Given the description of an element on the screen output the (x, y) to click on. 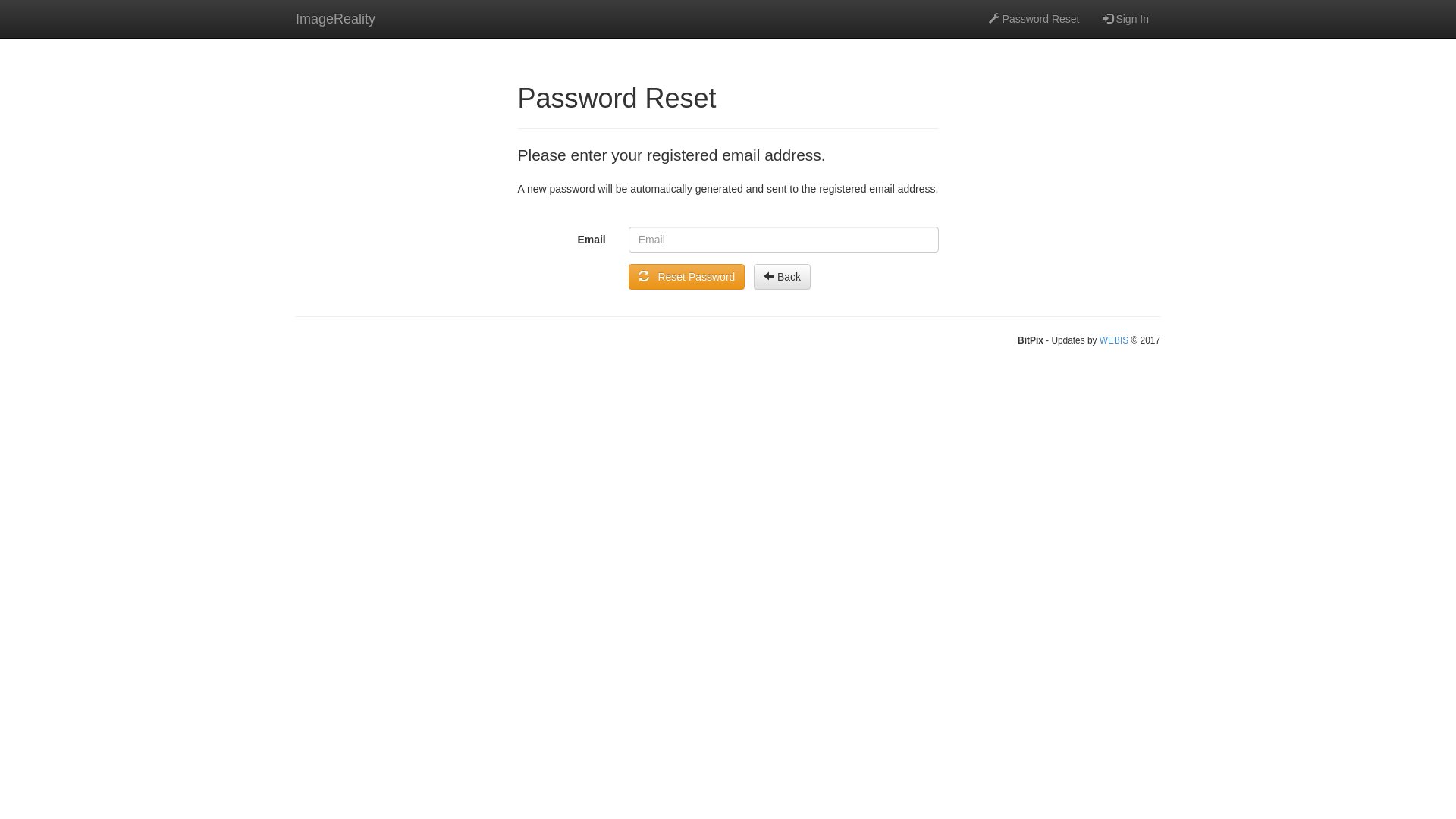
ImageReality Element type: text (335, 18)
  Reset Password Element type: text (686, 276)
Sign In Element type: text (1125, 18)
Back Element type: text (781, 276)
WEBIS Element type: text (1113, 340)
Password Reset Element type: text (1034, 18)
